Given the description of an element on the screen output the (x, y) to click on. 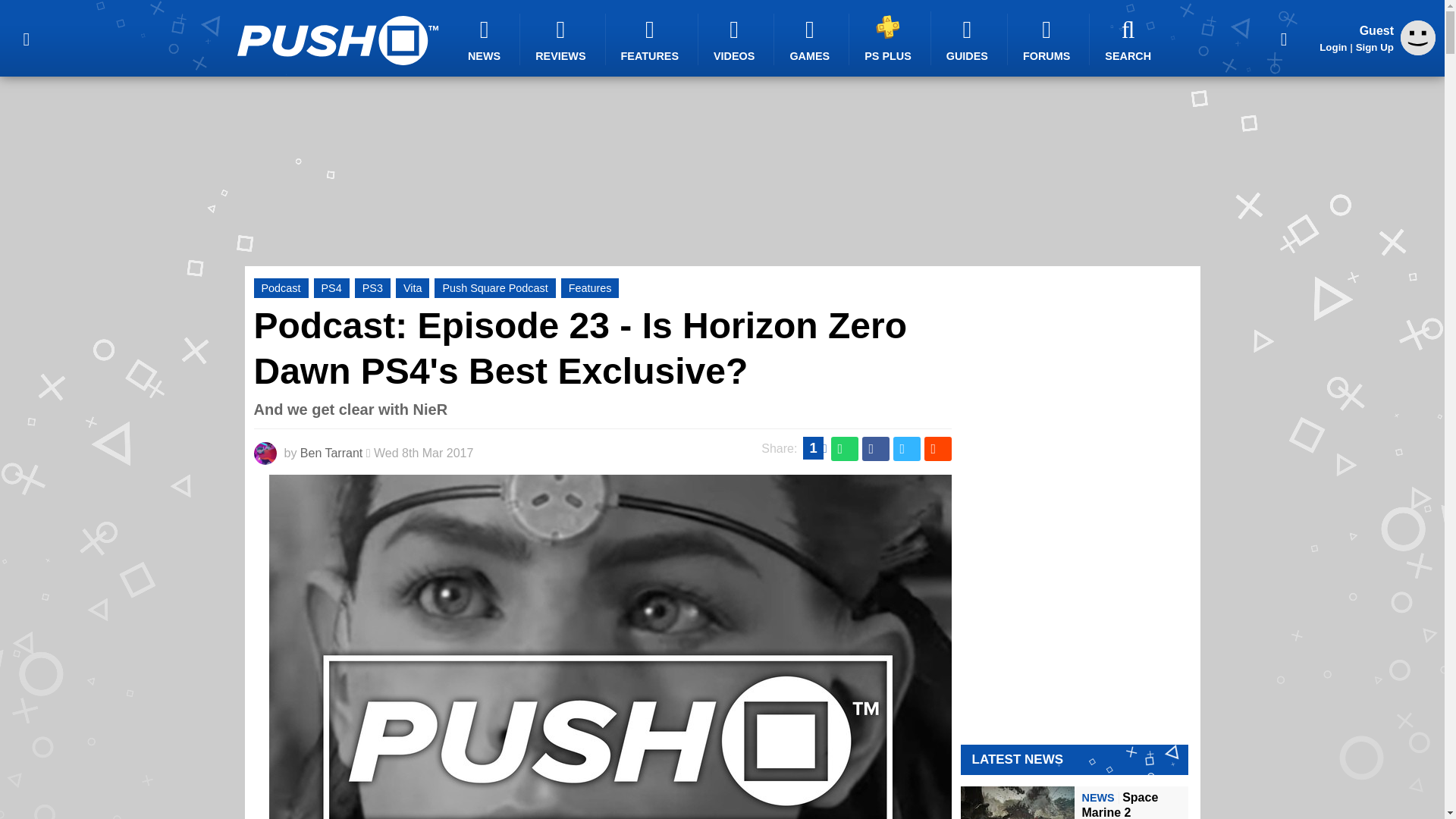
Guest (1417, 51)
Share this on Facebook (874, 448)
Share this on WhatsApp (845, 448)
FEATURES (651, 39)
Share This Page (1283, 37)
GUIDES (969, 39)
Share this on Twitter (906, 448)
Podcast (280, 288)
VIDEOS (736, 39)
Menu (26, 37)
